Given the description of an element on the screen output the (x, y) to click on. 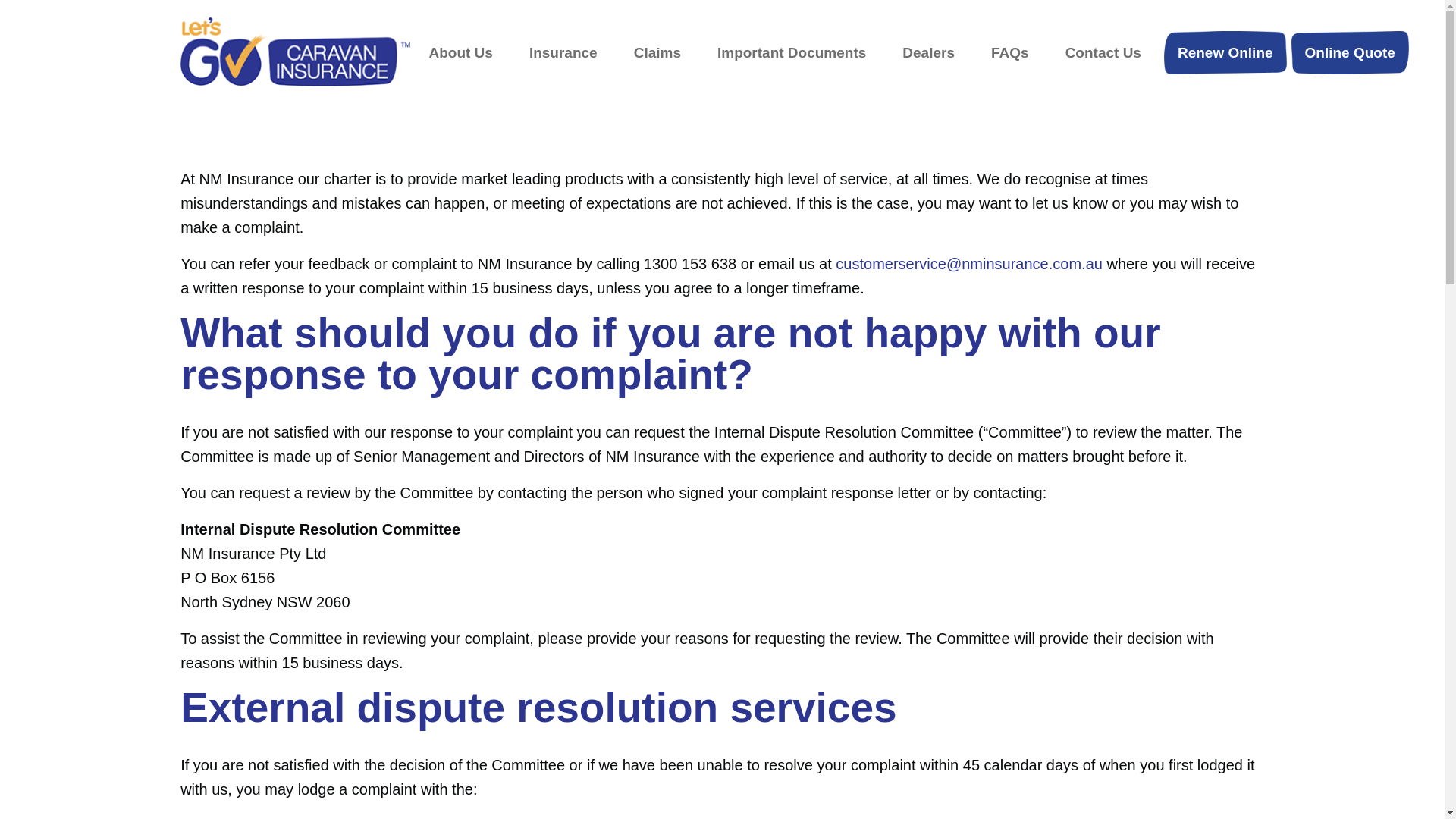
Contact Us (1103, 52)
Dealers (928, 52)
Claims (657, 52)
About Us (460, 52)
FAQs (1010, 52)
Online Quote (1349, 52)
Important Documents (791, 52)
Insurance (562, 52)
Renew Online (1225, 52)
